Given the description of an element on the screen output the (x, y) to click on. 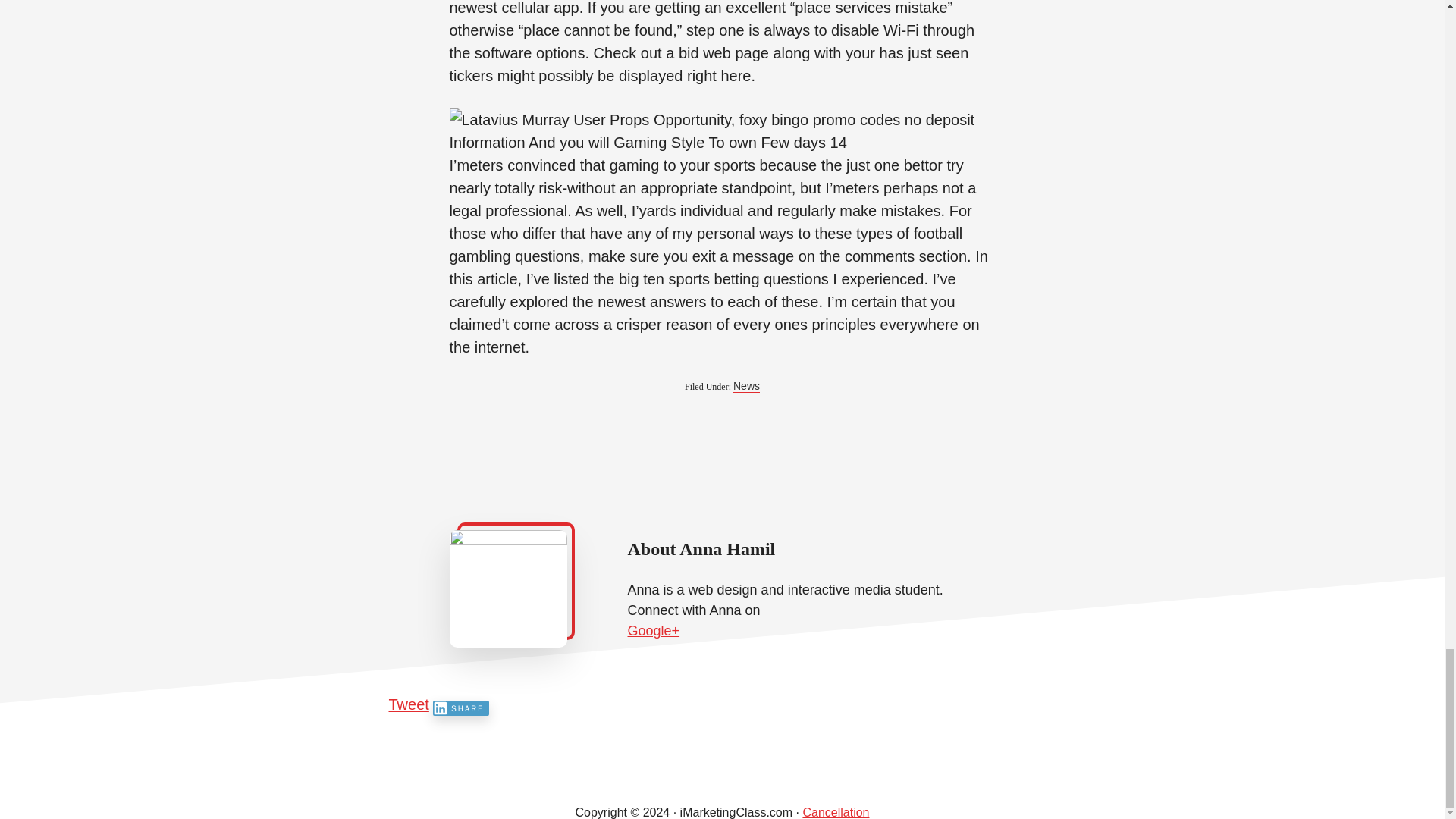
SHARE (460, 708)
News (746, 386)
Tweet (408, 704)
